Given the description of an element on the screen output the (x, y) to click on. 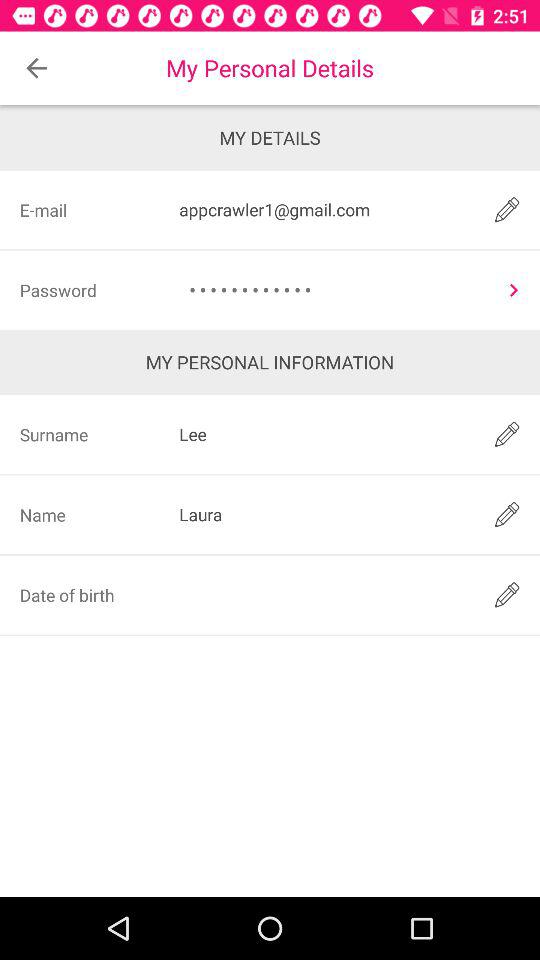
tap ************ item (333, 289)
